Given the description of an element on the screen output the (x, y) to click on. 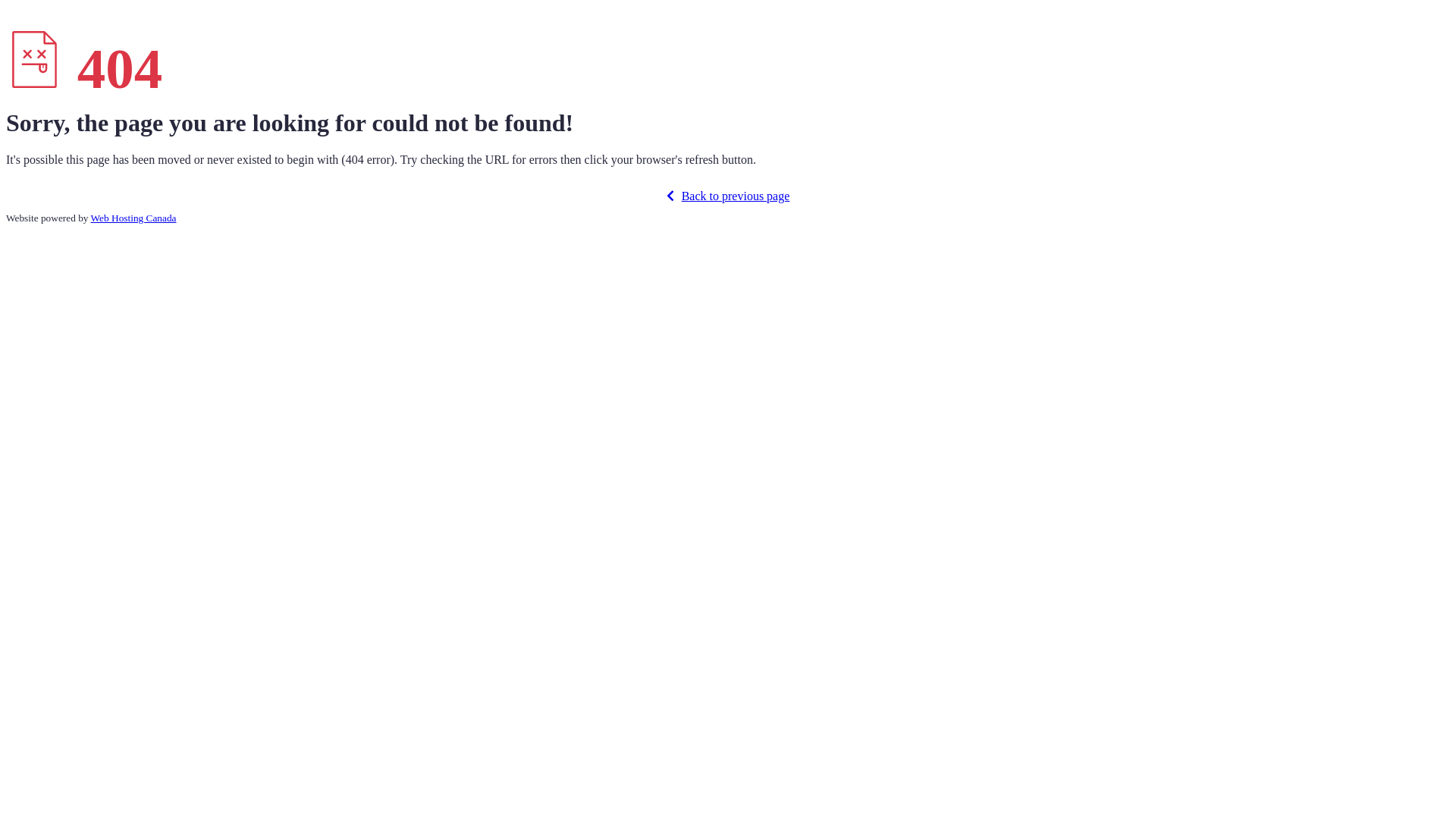
Web Hosting Canada Element type: text (133, 217)
Back to previous page Element type: text (728, 196)
